Given the description of an element on the screen output the (x, y) to click on. 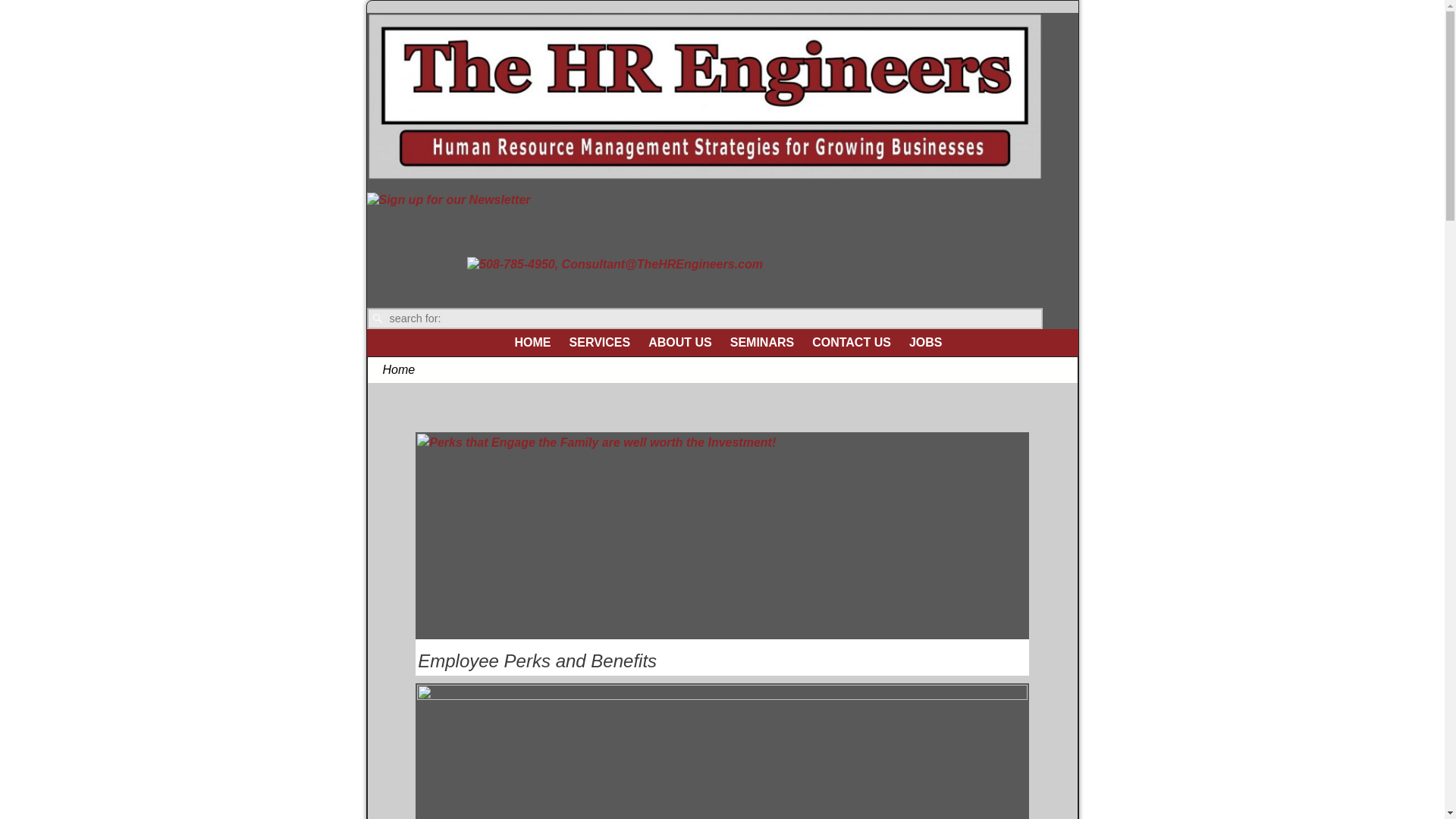
Job Listings from Our Clients (925, 342)
SERVICES (600, 342)
Employee Perks and Benefits (536, 660)
CONTACT US (851, 342)
JOBS (925, 342)
HOME (532, 342)
ABOUT US (679, 342)
SEMINARS (761, 342)
